Given the description of an element on the screen output the (x, y) to click on. 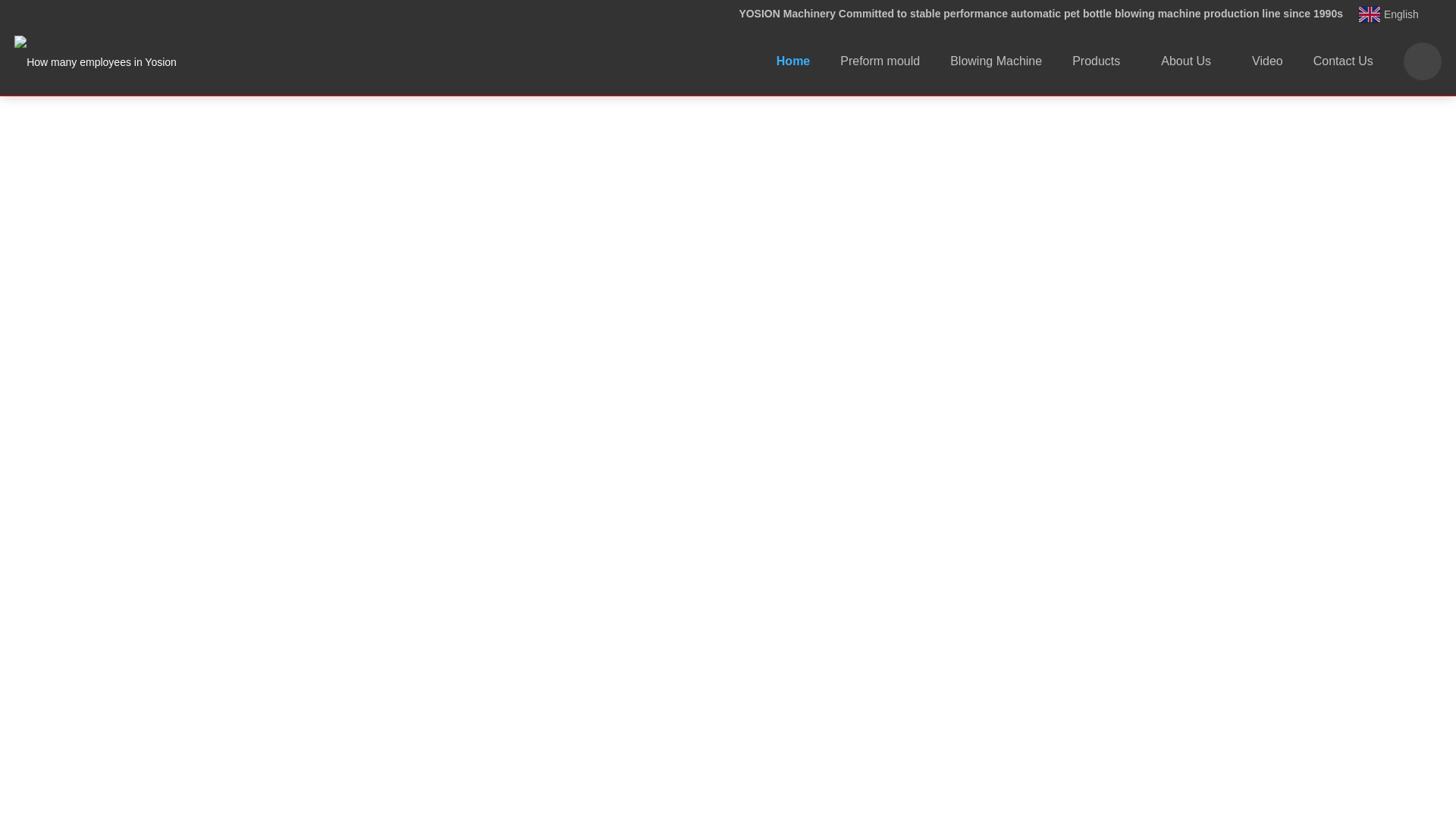
Products (1101, 61)
About Us (1190, 61)
Video (1267, 61)
Blowing Machine (995, 61)
Preform mould (879, 61)
Contact Us (1343, 61)
Home (793, 61)
